Given the description of an element on the screen output the (x, y) to click on. 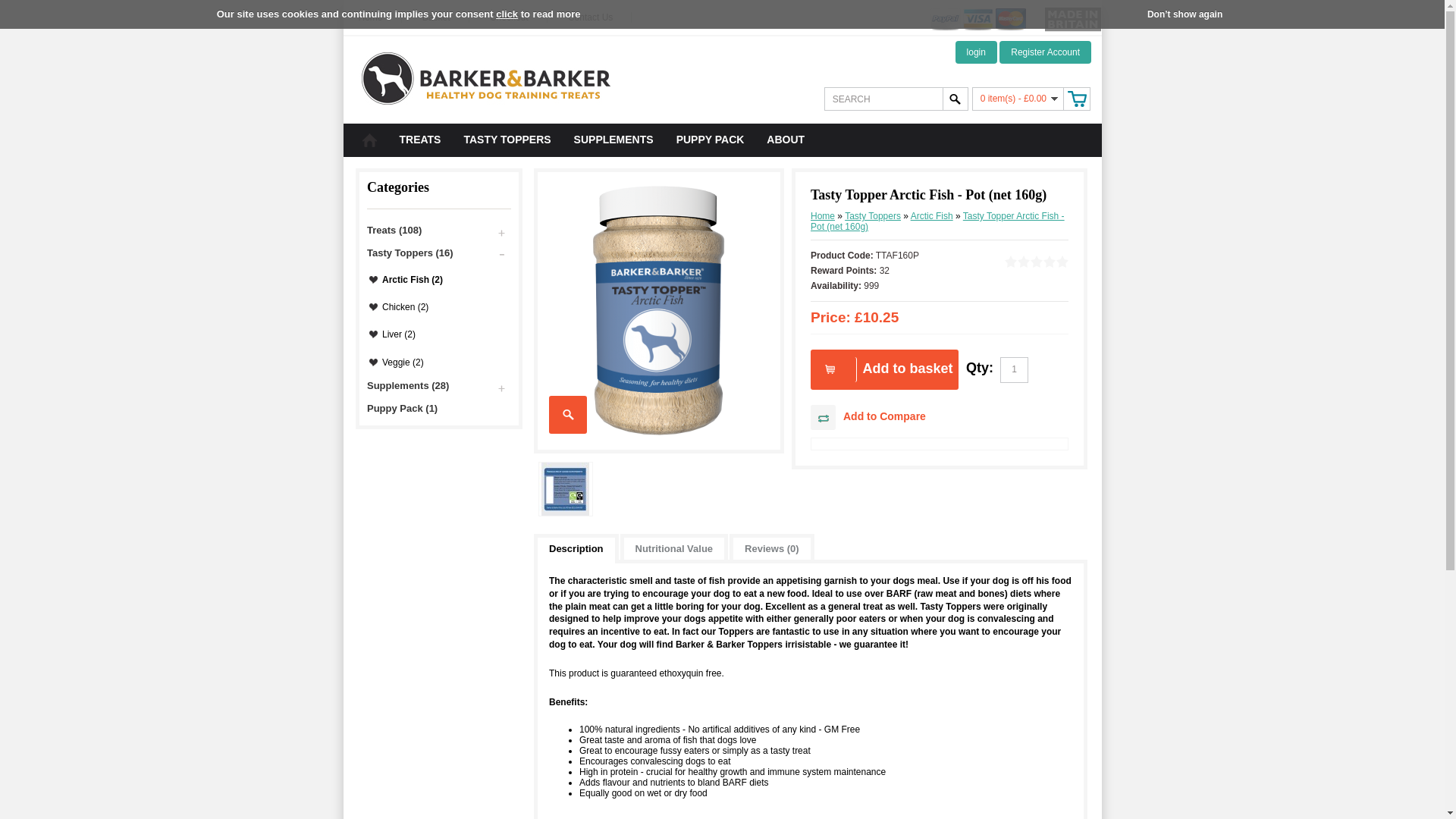
Search (883, 98)
Contact Us (599, 17)
login (976, 51)
Register Account (1044, 51)
ABOUT (786, 146)
click (507, 13)
TREATS (419, 146)
Basket (445, 17)
Go (955, 98)
Checkout (518, 17)
